Given the description of an element on the screen output the (x, y) to click on. 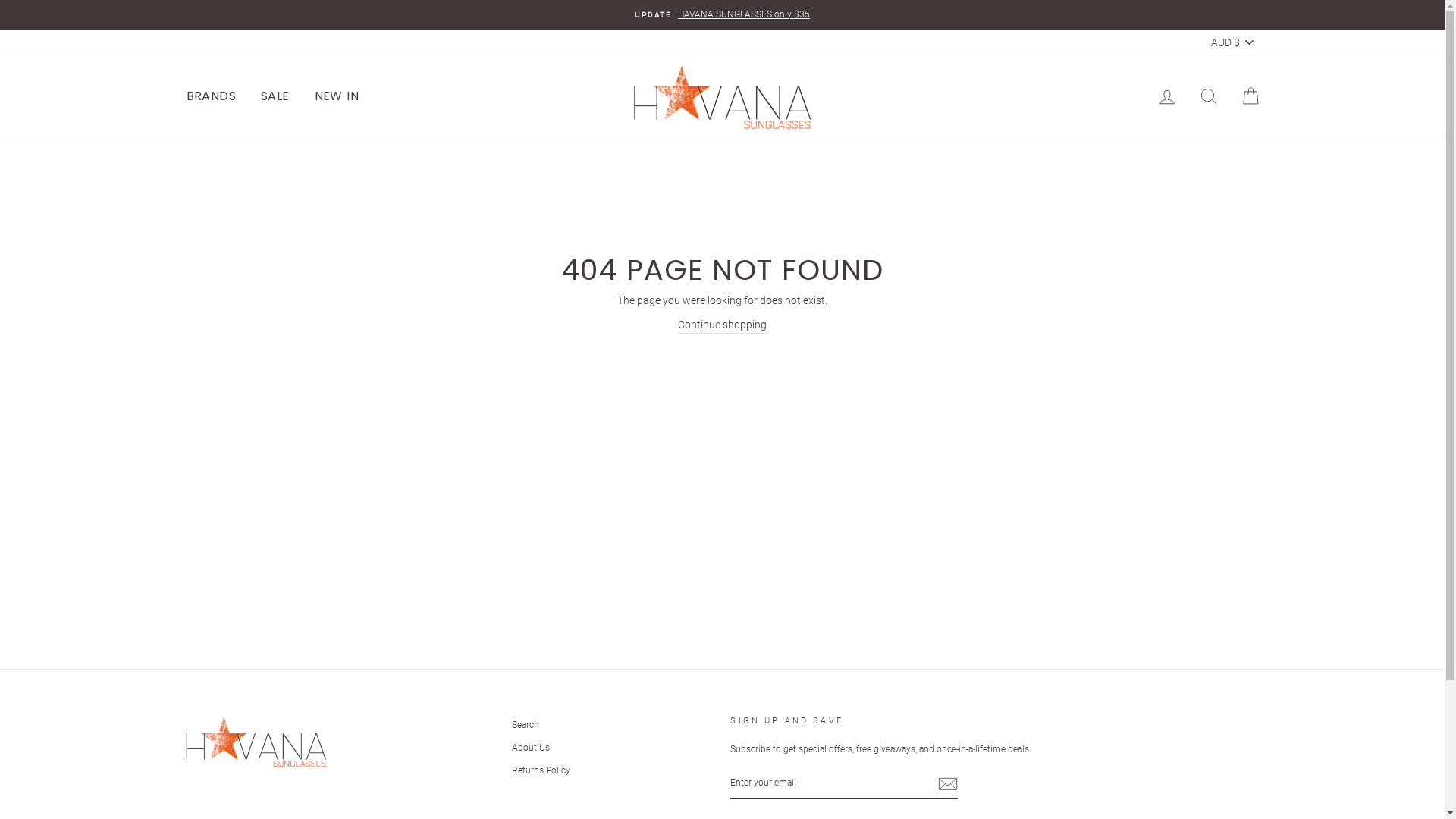
Search Element type: text (525, 725)
Continue shopping Element type: text (721, 324)
BRANDS Element type: text (210, 96)
LOG IN Element type: text (1166, 96)
Skip to content Element type: text (0, 0)
About Us Element type: text (530, 747)
SALE Element type: text (275, 96)
FREE SHIPPING On all Australian orders over $60 Element type: text (722, 14)
CART Element type: text (1249, 96)
Returns Policy Element type: text (540, 770)
SEARCH Element type: text (1208, 96)
AUD $ Element type: text (1232, 41)
NEW IN Element type: text (336, 96)
